Given the description of an element on the screen output the (x, y) to click on. 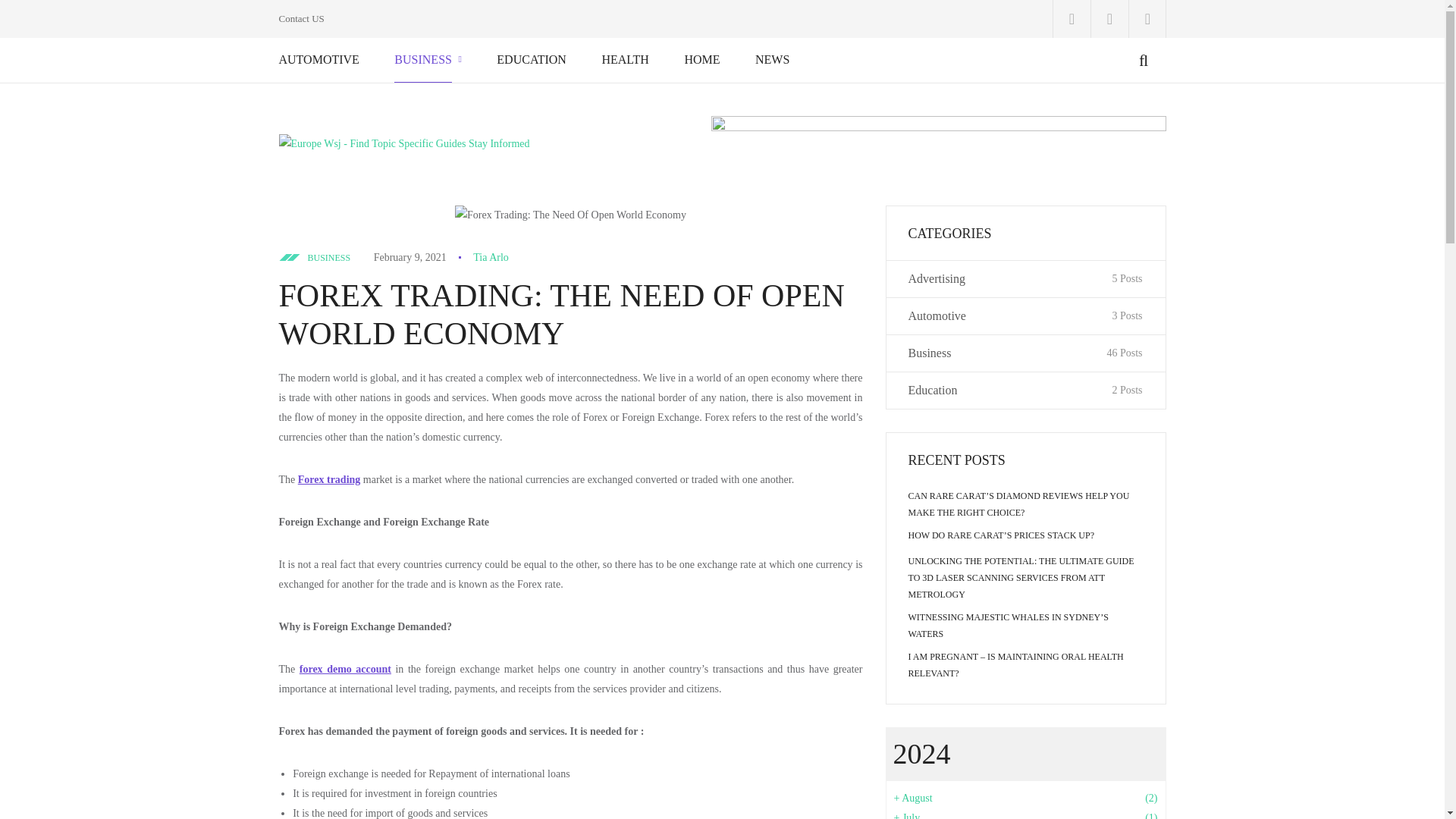
BUSINESS (422, 59)
AUTOMOTIVE (319, 59)
HEALTH (625, 59)
NEWS (772, 59)
EDUCATION (531, 59)
HOME (701, 59)
Contact US (301, 18)
